Given the description of an element on the screen output the (x, y) to click on. 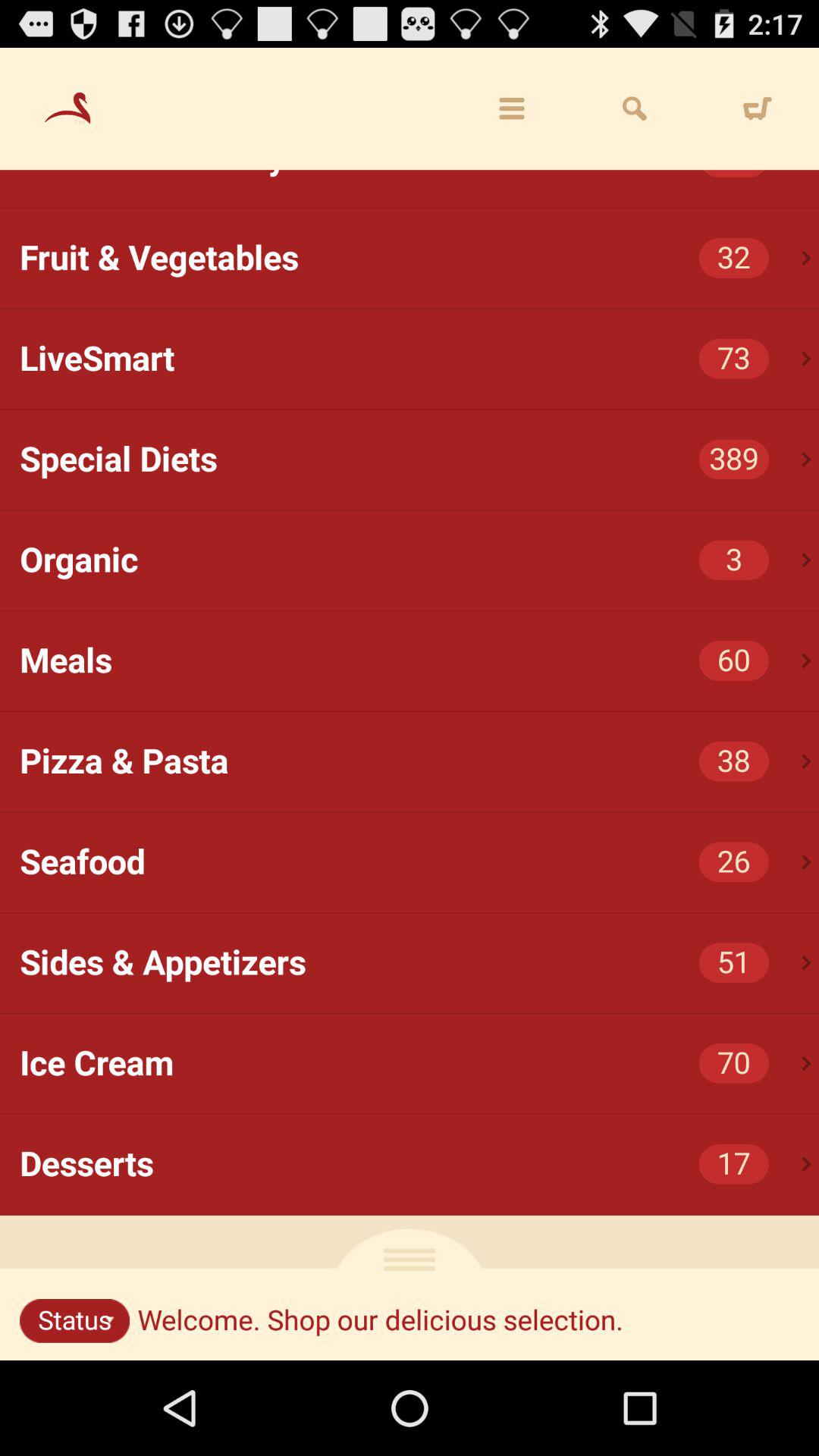
press icon next to 51 item (806, 962)
